Given the description of an element on the screen output the (x, y) to click on. 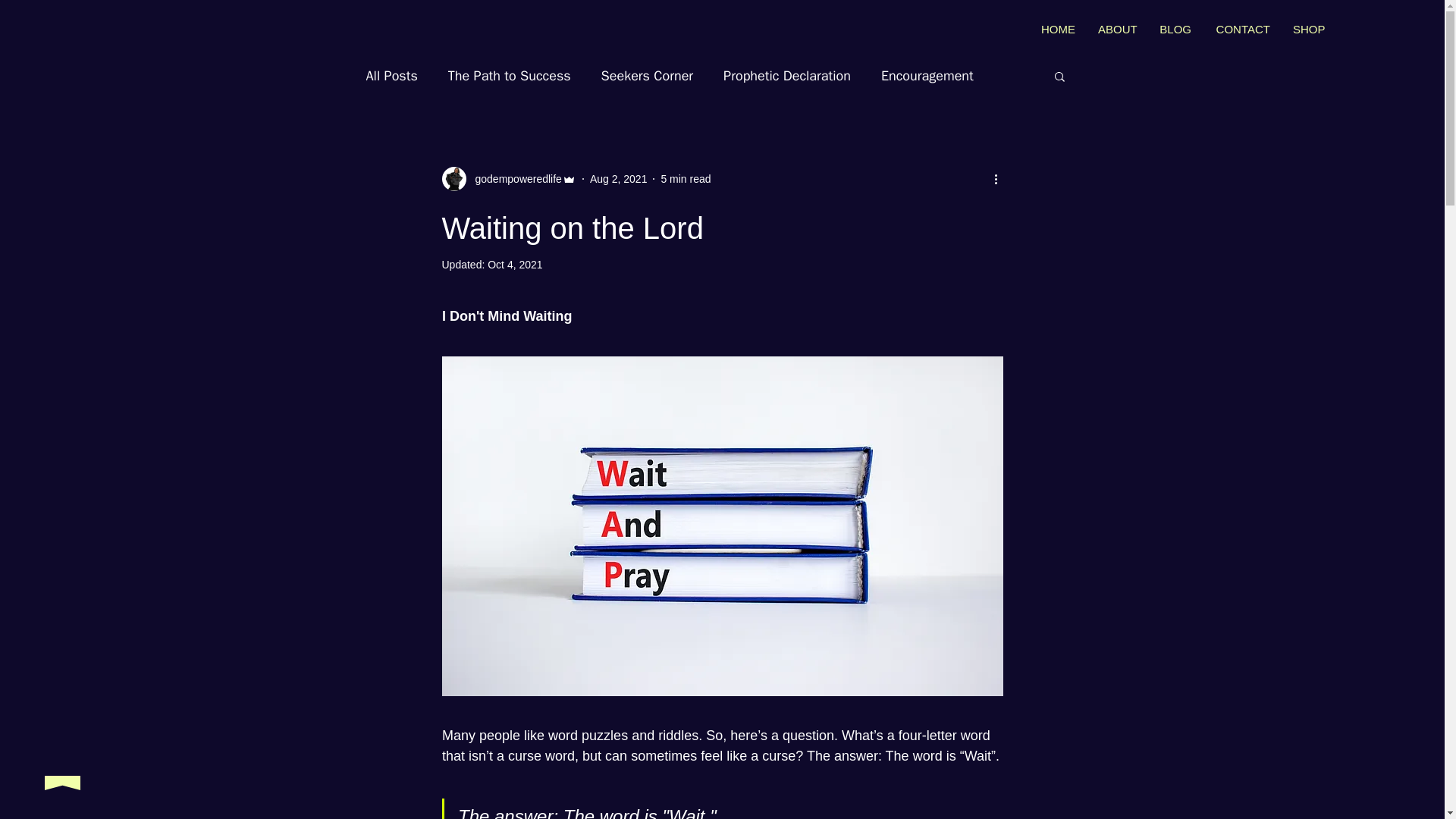
godempoweredlife (508, 178)
CONTACT (1241, 29)
All Posts (390, 75)
Seekers Corner (647, 75)
The Path to Success (509, 75)
Oct 4, 2021 (514, 264)
HOME (1057, 29)
BLOG (1175, 29)
SHOP (1308, 29)
5 min read (685, 178)
